Given the description of an element on the screen output the (x, y) to click on. 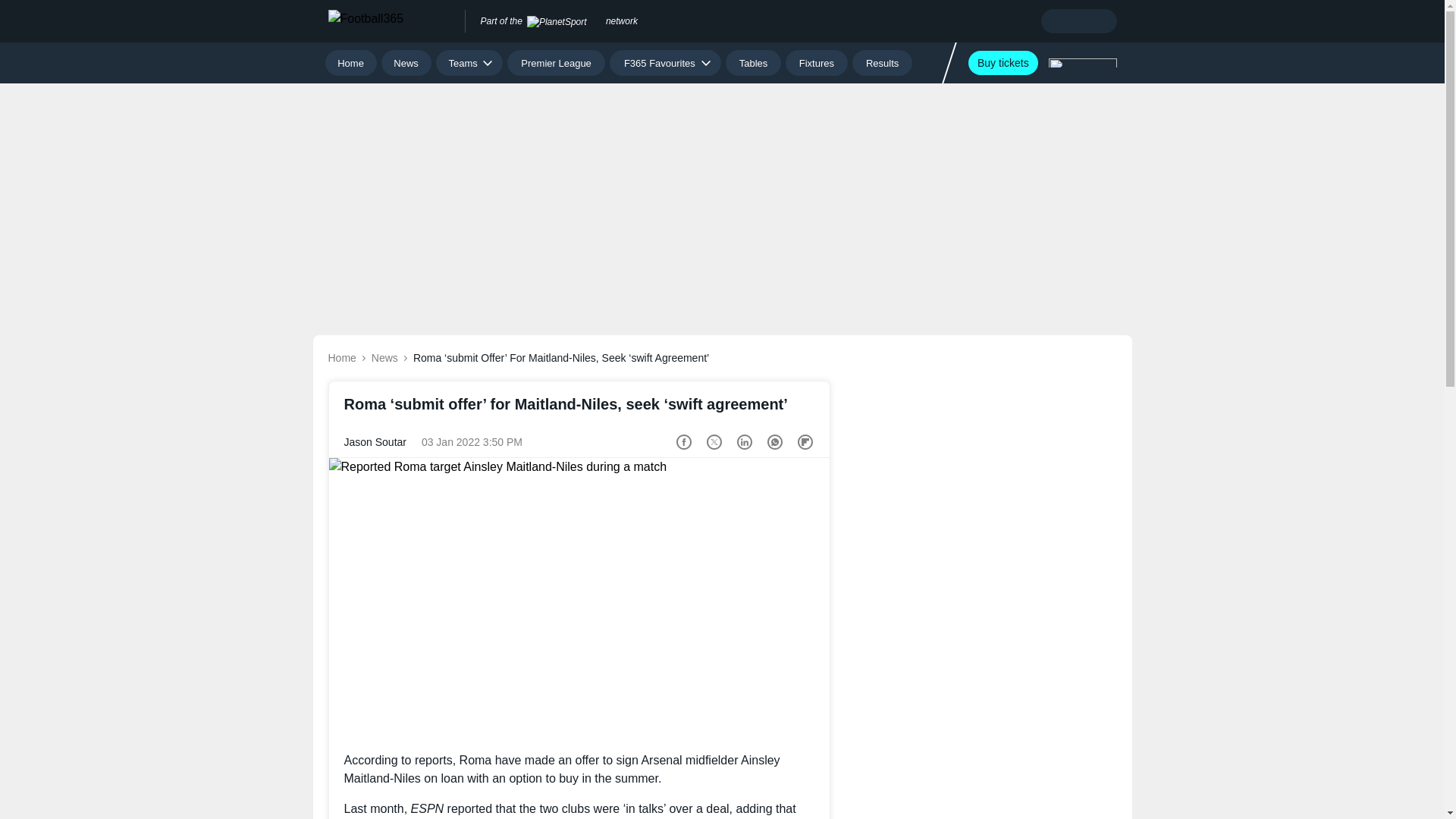
Teams (468, 62)
Fixtures (817, 62)
Results (881, 62)
F365 Favourites (665, 62)
News (405, 62)
Home (349, 62)
Premier League (555, 62)
Buy tickets (1003, 62)
Tables (752, 62)
